Given the description of an element on the screen output the (x, y) to click on. 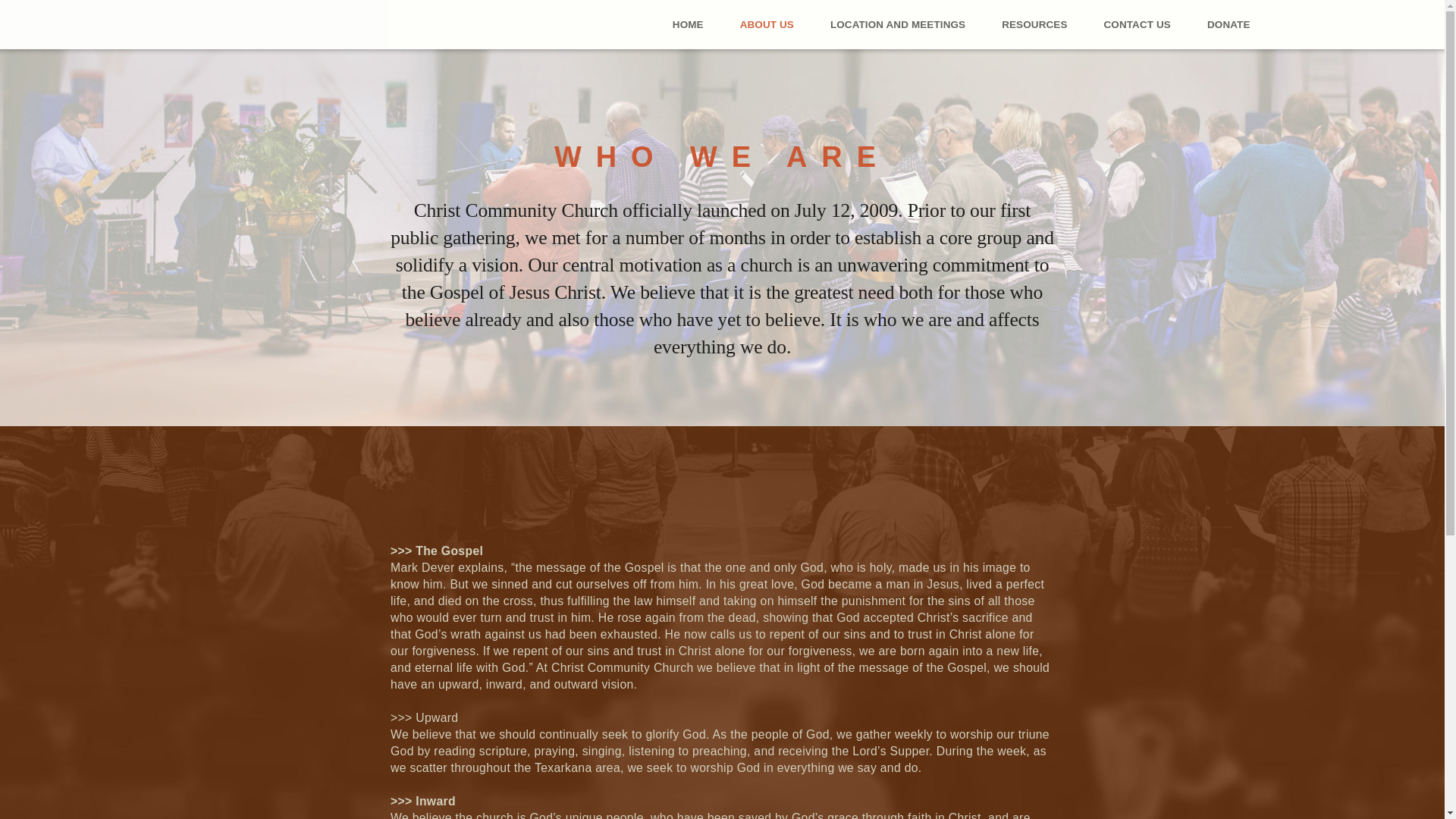
RESOURCES (1034, 24)
CONTACT US (1137, 24)
LOCATION AND MEETINGS (898, 24)
HOME (687, 24)
ABOUT US (767, 24)
